Given the description of an element on the screen output the (x, y) to click on. 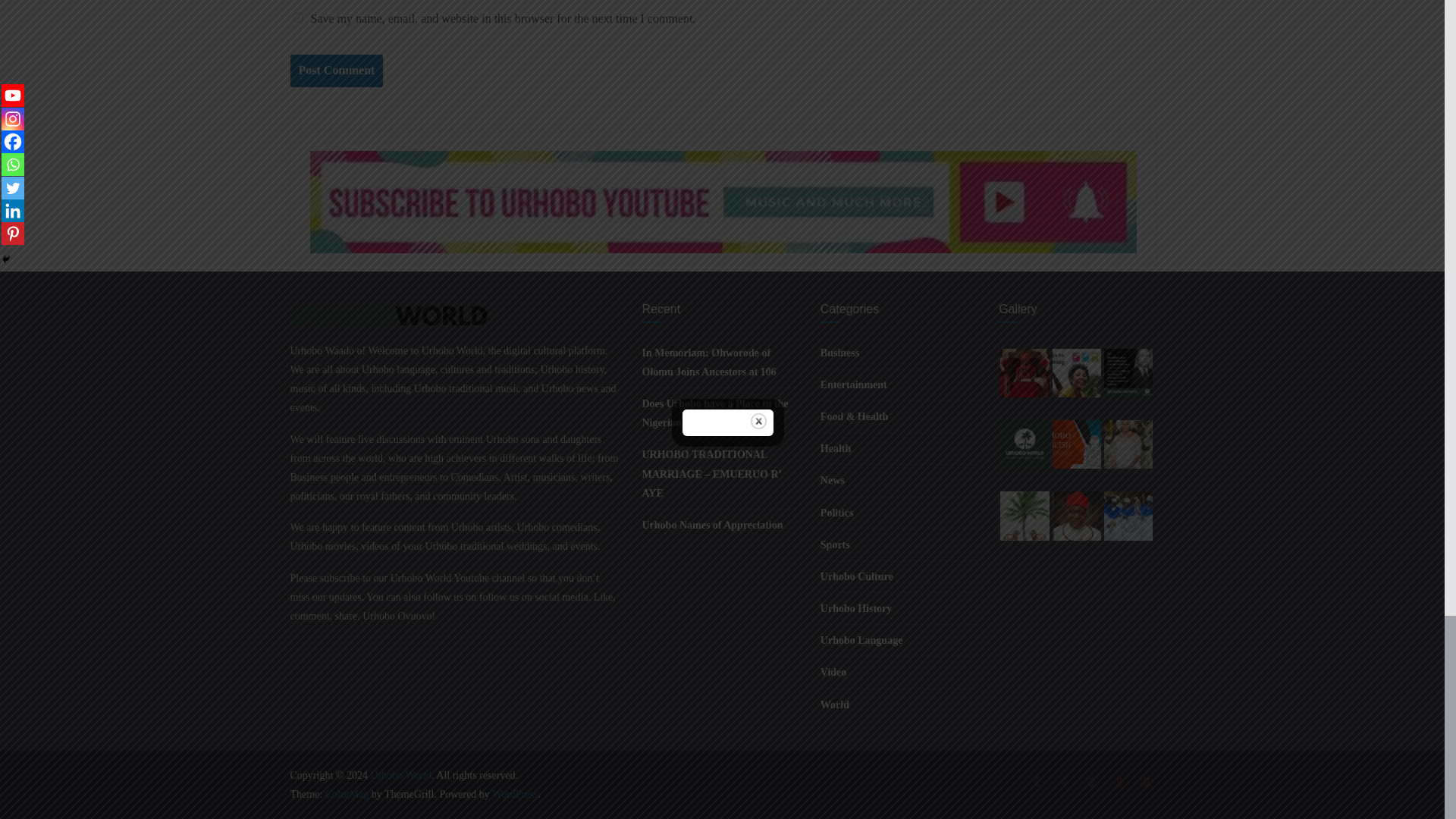
Post Comment (335, 70)
yes (297, 17)
